Given the description of an element on the screen output the (x, y) to click on. 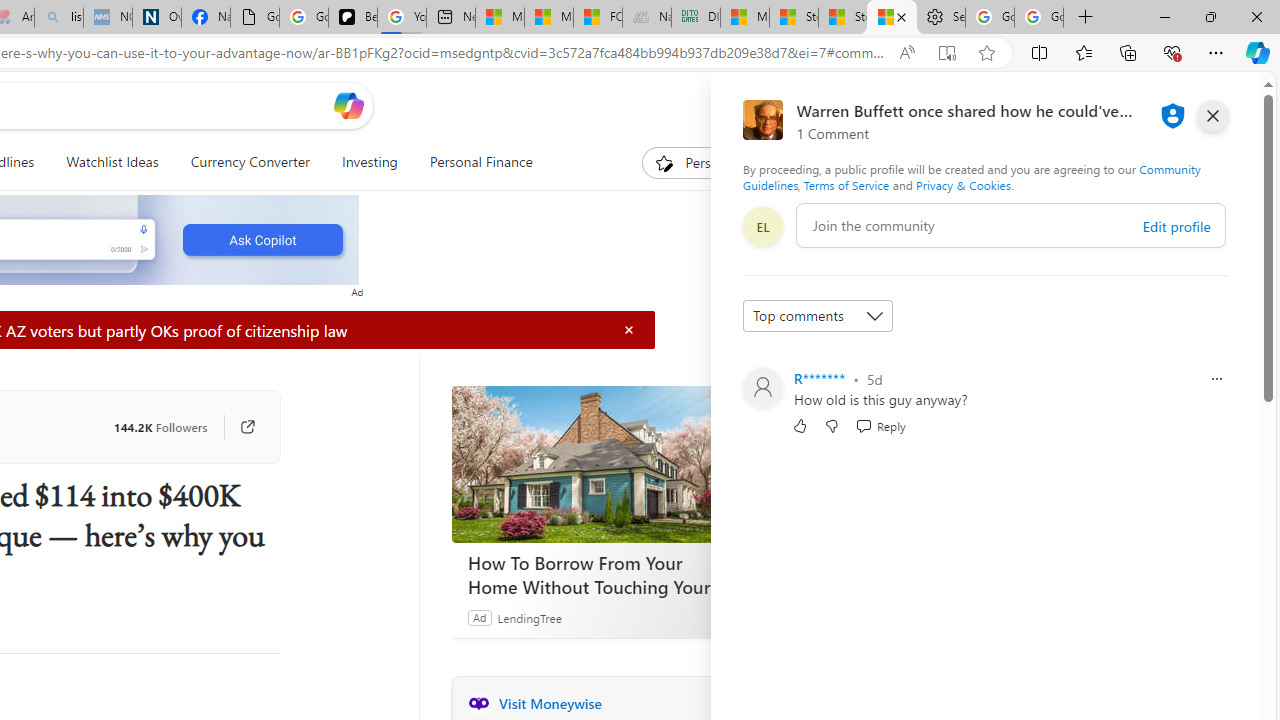
DITOGAMES AG Imprint (696, 17)
Go to publisher's site (237, 426)
comment-box (1011, 225)
Investing (369, 162)
Report comment (1216, 378)
FOX News - MSN (597, 17)
